Given the description of an element on the screen output the (x, y) to click on. 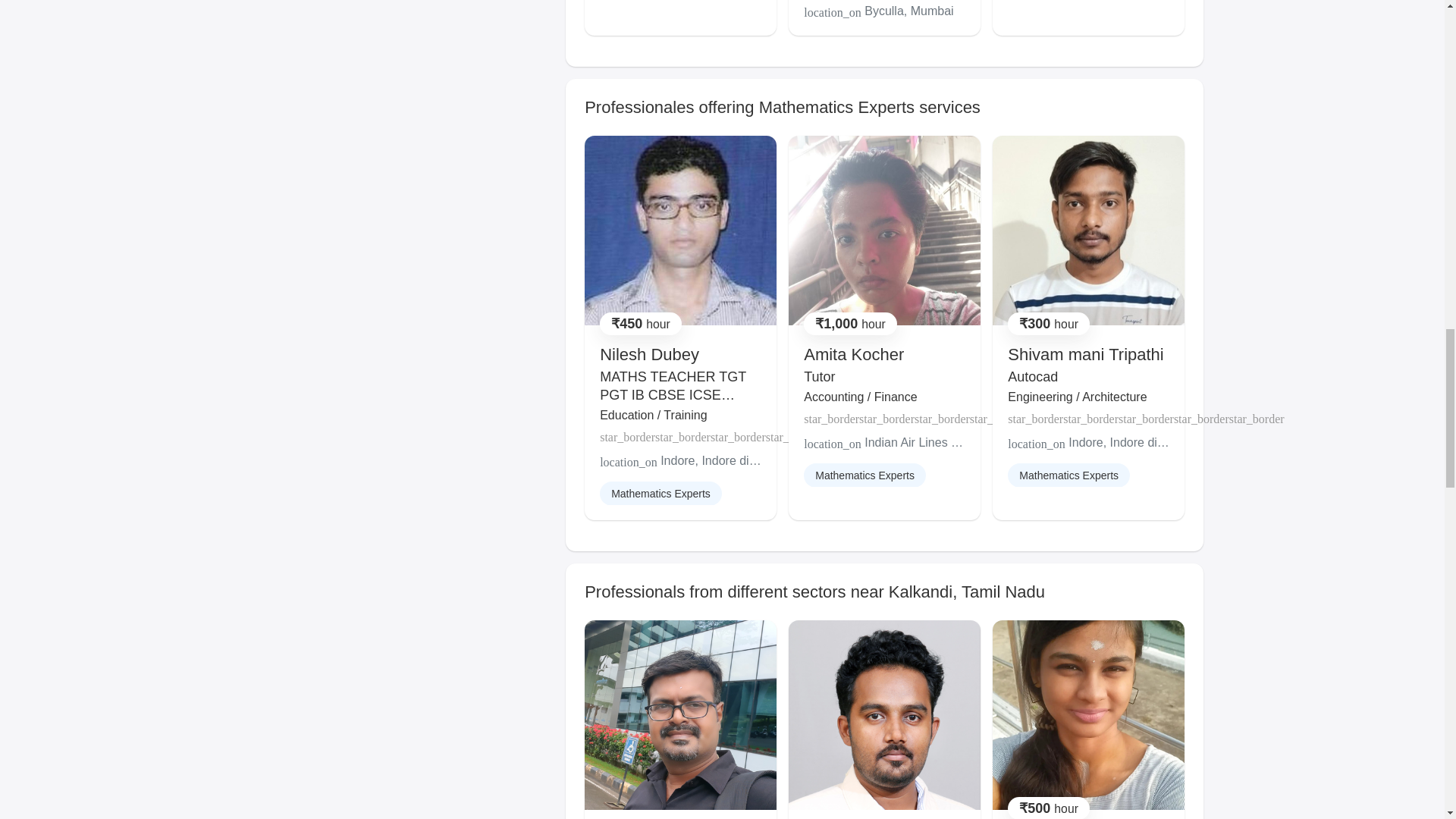
Shivam mani Tripathi (1085, 353)
Nilesh Dubey (648, 353)
Shivam mani Tripathi (1085, 353)
Nilesh Dubey (648, 353)
Amita Kocher (853, 353)
Amita Kocher (853, 353)
